Given the description of an element on the screen output the (x, y) to click on. 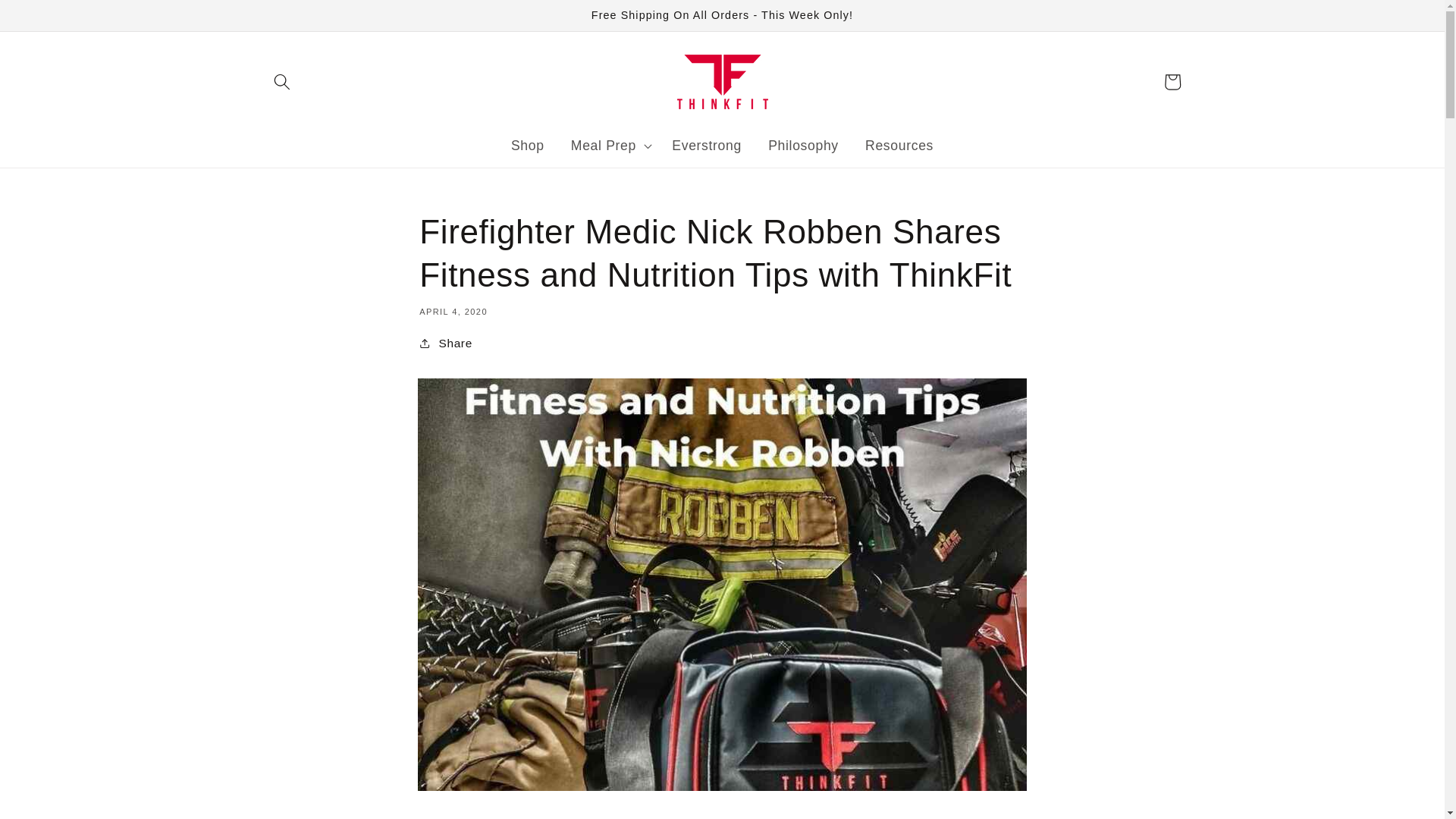
Shop (527, 146)
Cart (1172, 81)
Philosophy (803, 146)
Resources (898, 146)
Everstrong (707, 146)
Skip to content (50, 19)
